Given the description of an element on the screen output the (x, y) to click on. 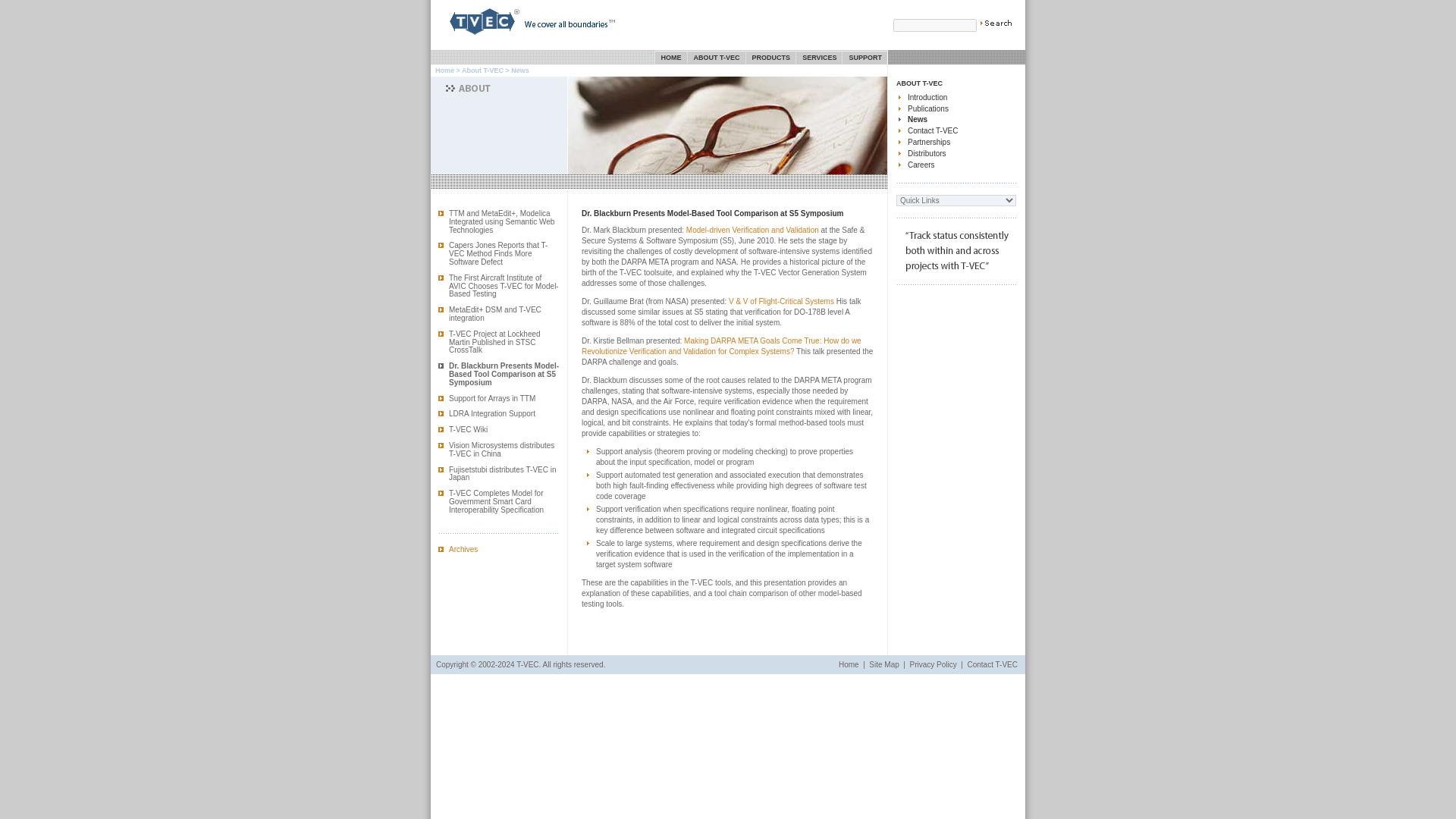
News (917, 119)
T-VEC Home (475, 37)
Archives (462, 549)
Model-driven Verification and Validation (751, 230)
ABOUT T-VEC (716, 57)
Vision Microsystems distributes T-VEC in China (501, 449)
Partnerships (928, 142)
SERVICES (818, 57)
LDRA Integration Support (491, 413)
ABOUT T-VEC (919, 82)
T-VEC Wiki (467, 429)
